Given the description of an element on the screen output the (x, y) to click on. 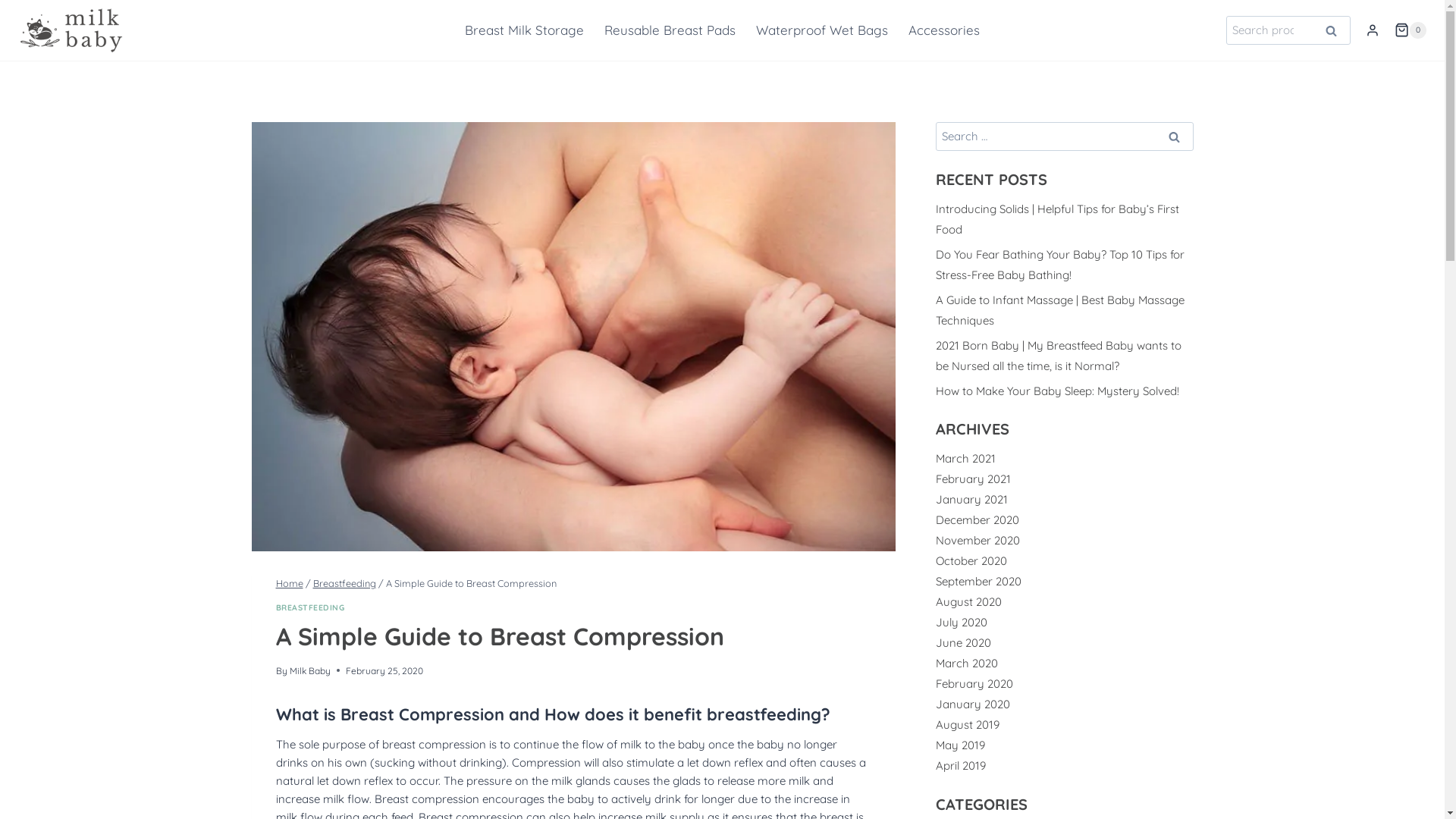
March 2021 Element type: text (965, 458)
Breast Milk Storage Element type: text (523, 30)
July 2020 Element type: text (961, 622)
January 2020 Element type: text (972, 703)
June 2020 Element type: text (963, 642)
0 Element type: text (1410, 29)
BREASTFEEDING Element type: text (310, 607)
December 2020 Element type: text (977, 519)
October 2020 Element type: text (971, 560)
Breastfeeding Element type: text (343, 583)
How to Make Your Baby Sleep: Mystery Solved! Element type: text (1057, 390)
August 2020 Element type: text (968, 601)
March 2020 Element type: text (966, 662)
Search Element type: text (1331, 29)
January 2021 Element type: text (971, 499)
A Guide to Infant Massage | Best Baby Massage Techniques Element type: text (1059, 309)
A Simple Guide to Breast Compression 1 Element type: hover (573, 336)
May 2019 Element type: text (960, 744)
Search Element type: text (1174, 136)
November 2020 Element type: text (977, 540)
Milk Baby Element type: text (309, 670)
February 2021 Element type: text (972, 478)
Home Element type: text (289, 583)
Waterproof Wet Bags Element type: text (822, 30)
September 2020 Element type: text (978, 581)
Reusable Breast Pads Element type: text (669, 30)
February 2020 Element type: text (974, 683)
Accessories Element type: text (944, 30)
August 2019 Element type: text (967, 724)
April 2019 Element type: text (960, 765)
